Given the description of an element on the screen output the (x, y) to click on. 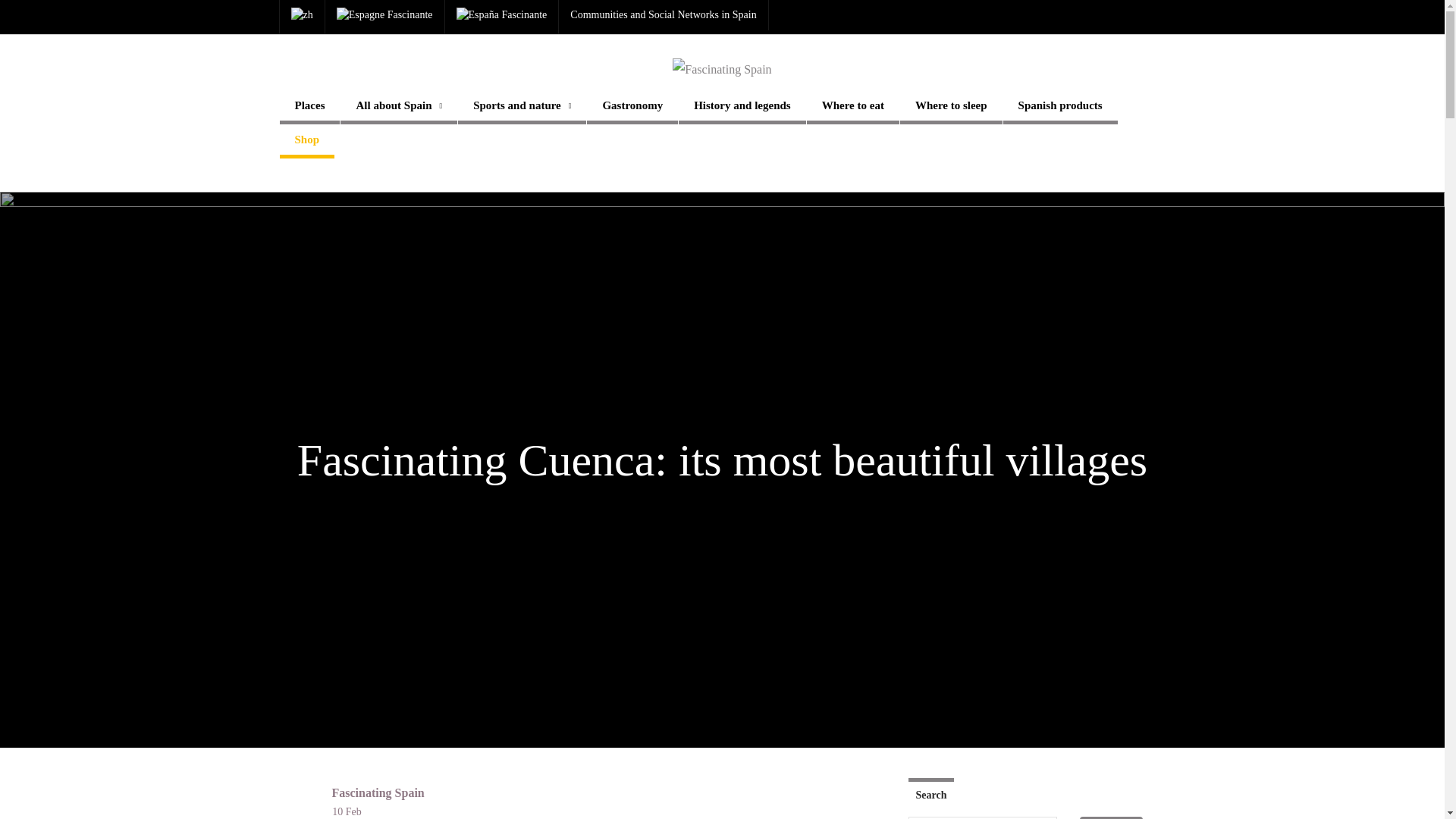
History and legends (742, 107)
All about Spain (398, 107)
Places (309, 107)
Entradas de Fascinating Spain (378, 792)
Sports and nature (522, 107)
Where to eat (852, 107)
Shop (306, 141)
Spanish products (1060, 107)
Fascinating Spain -  (721, 69)
Gastronomy (632, 107)
